Given the description of an element on the screen output the (x, y) to click on. 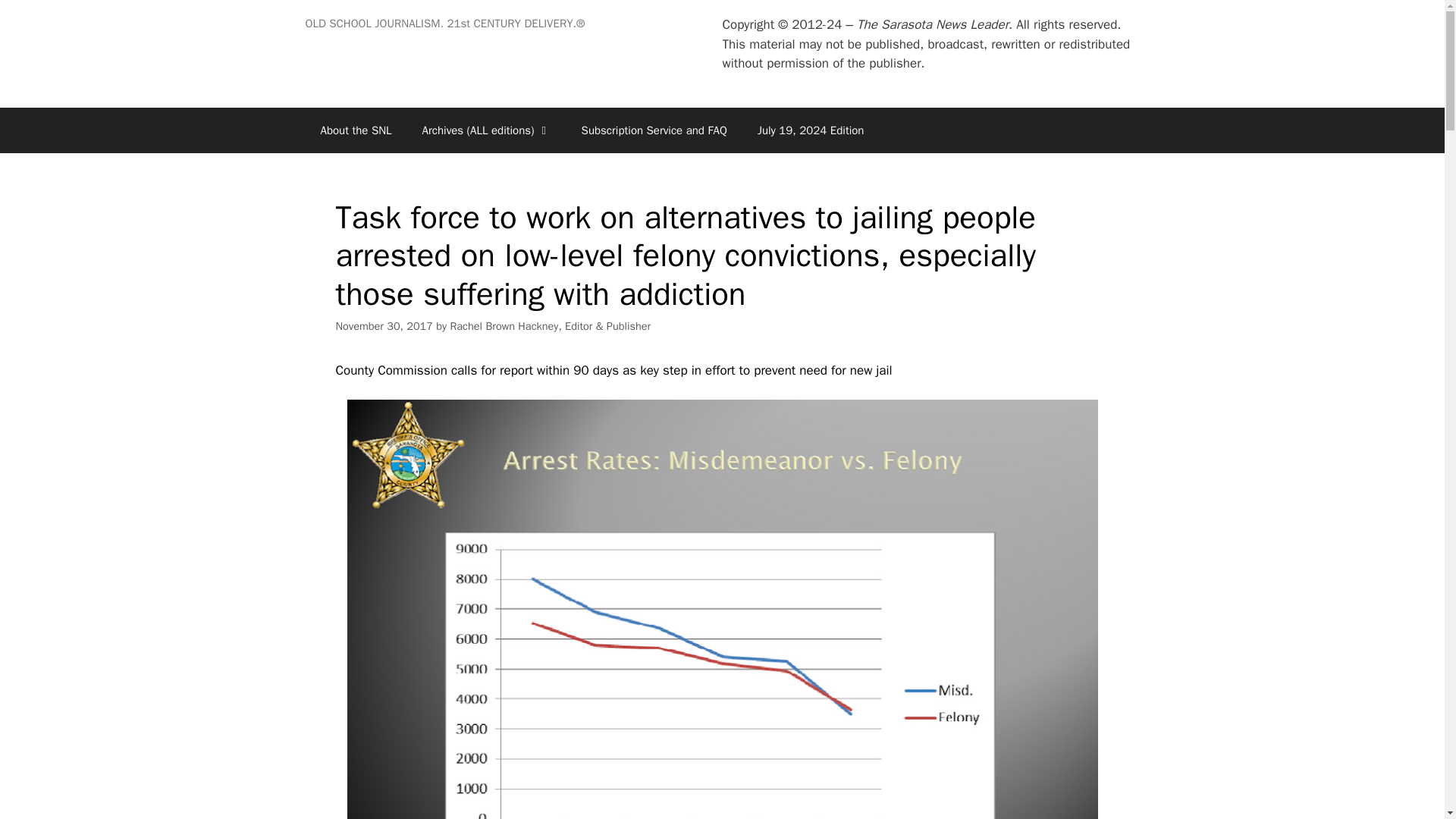
About the SNL (355, 130)
